Given the description of an element on the screen output the (x, y) to click on. 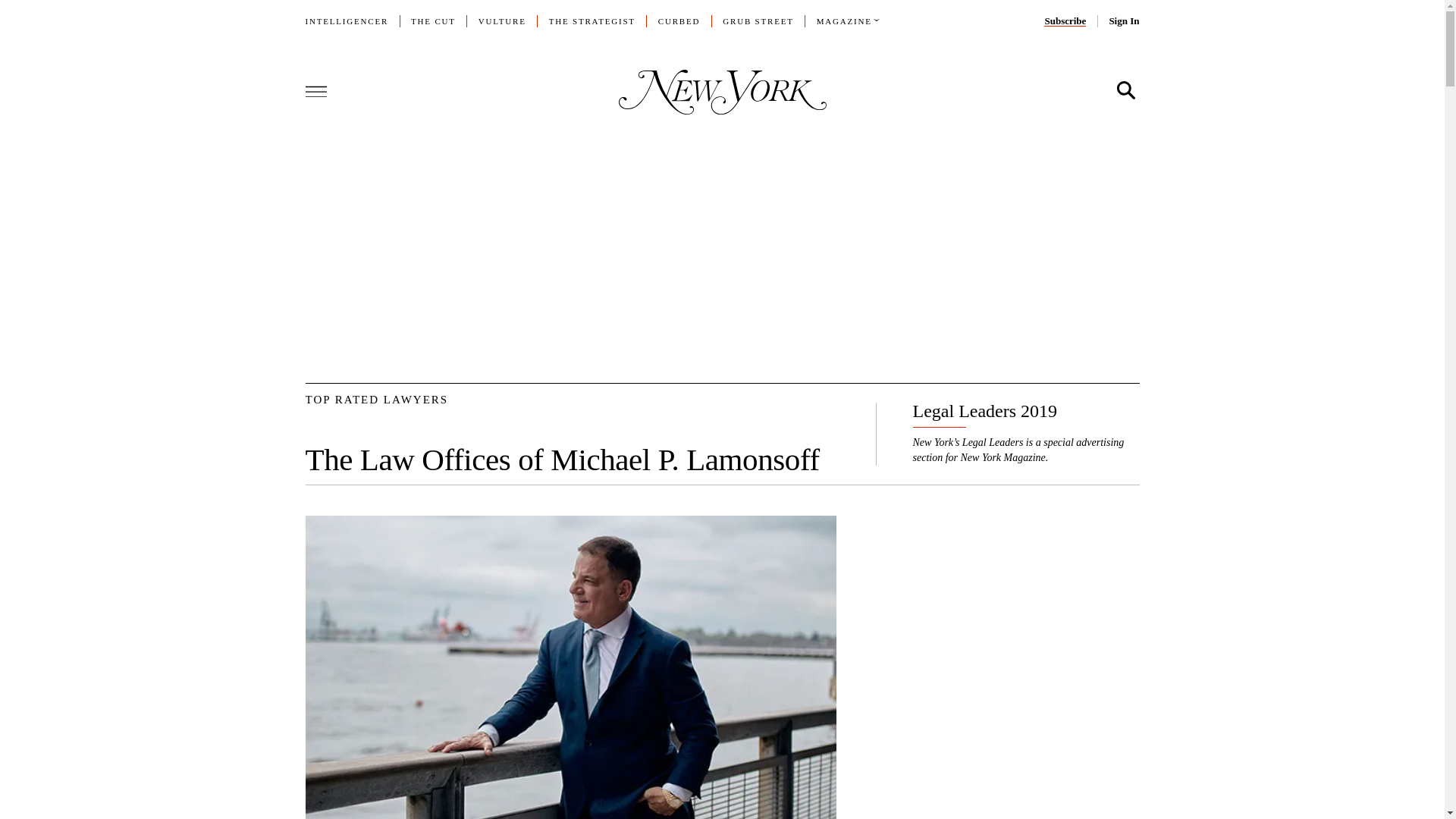
Subscribe (1064, 20)
THE STRATEGIST (591, 20)
MAGAZINE (844, 20)
THE CUT (432, 20)
Menu (315, 90)
CURBED (679, 20)
Search (1124, 90)
Sign In (1123, 20)
INTELLIGENCER (346, 20)
GRUB STREET (757, 20)
